Given the description of an element on the screen output the (x, y) to click on. 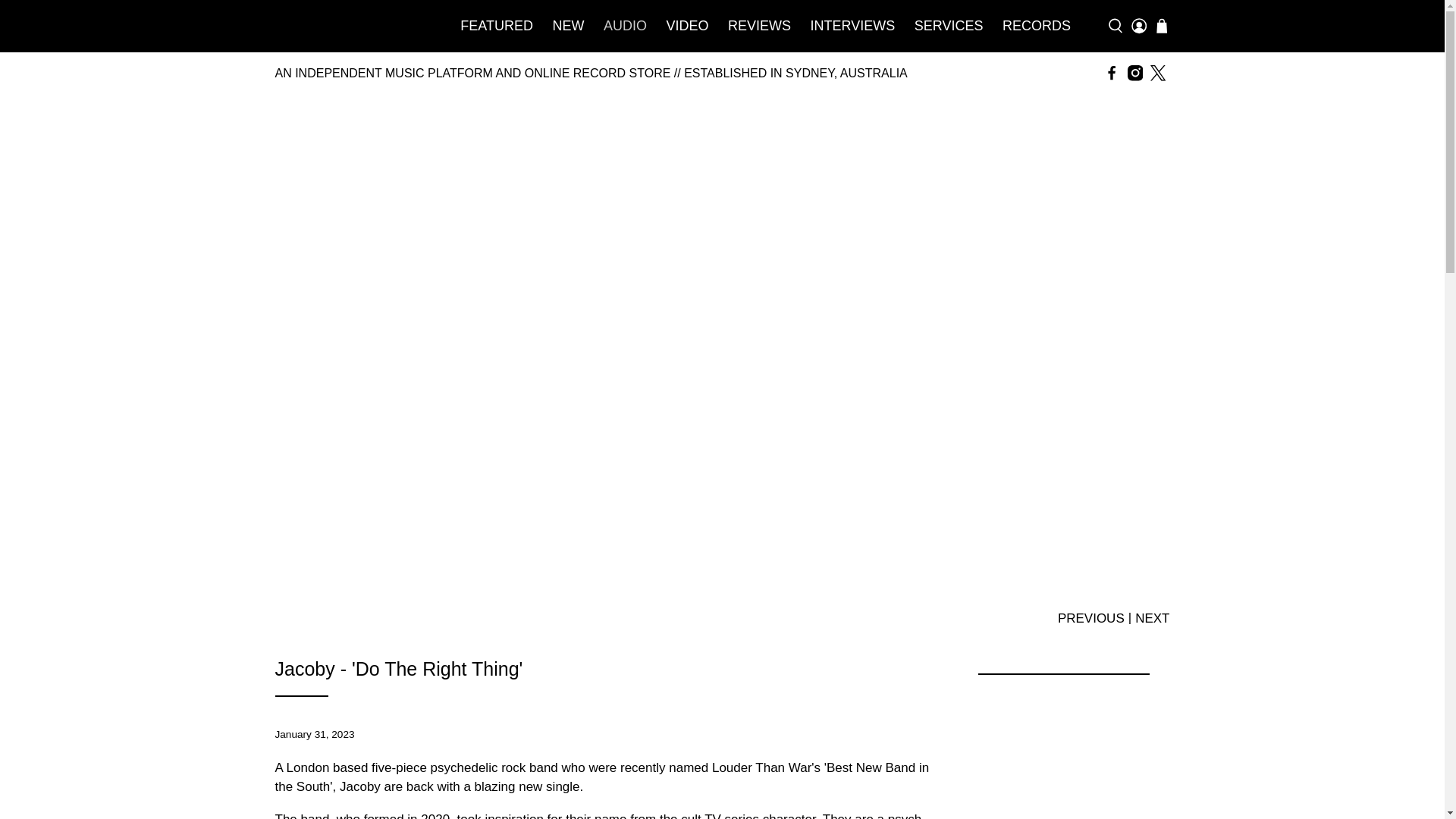
REVIEWS (758, 26)
BROKEN 8 RECORDS on X (1158, 72)
Next (1152, 617)
BROKEN 8 RECORDS on Instagram (1134, 72)
NEW (568, 26)
AUDIO (625, 26)
RECORDS (1036, 26)
SERVICES (948, 26)
BROKEN 8 RECORDS (349, 26)
PREVIOUS (1091, 617)
